Given the description of an element on the screen output the (x, y) to click on. 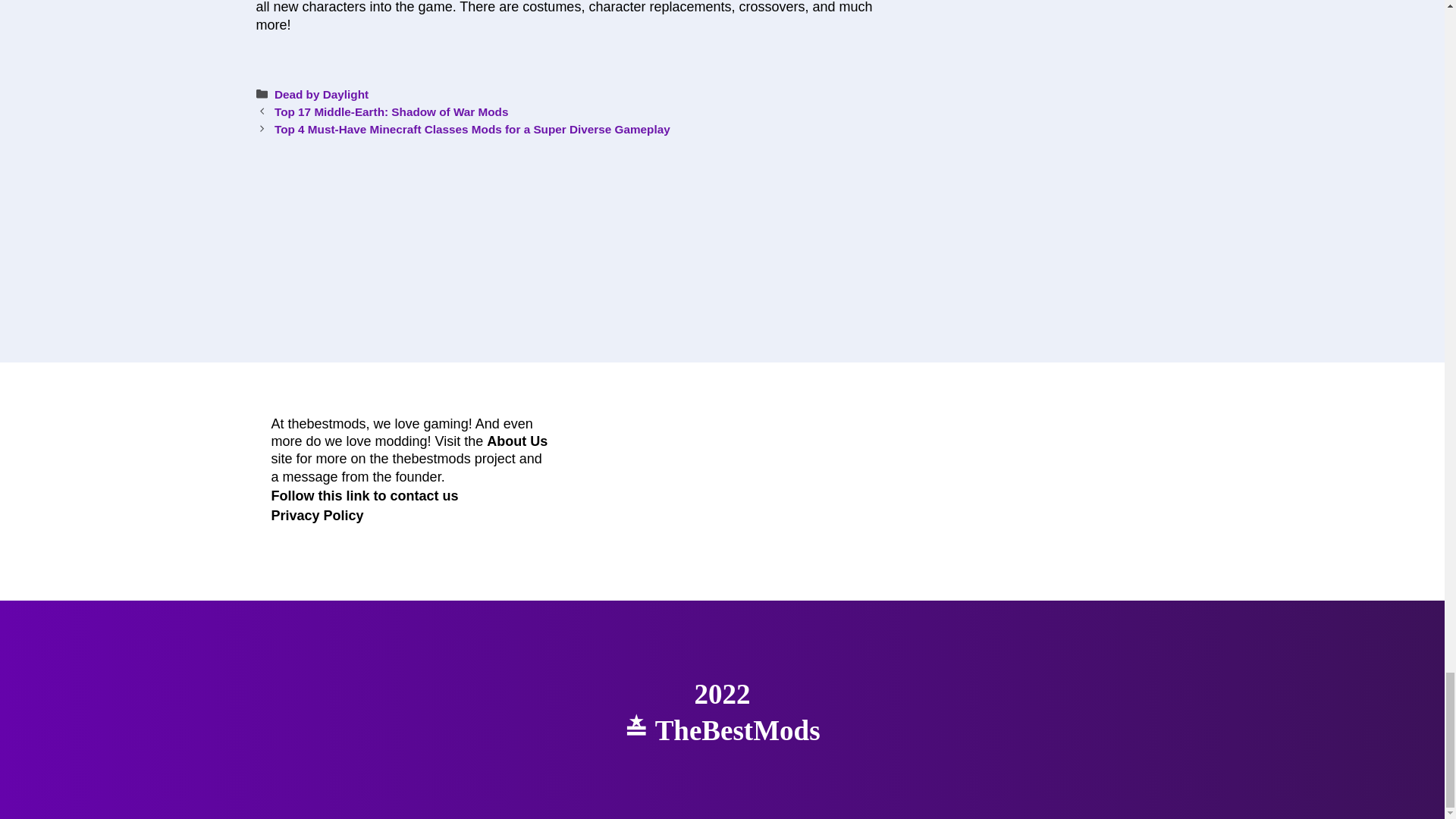
Dead by Daylight (321, 93)
Top 17 Middle-Earth: Shadow of War Mods (391, 111)
